Given the description of an element on the screen output the (x, y) to click on. 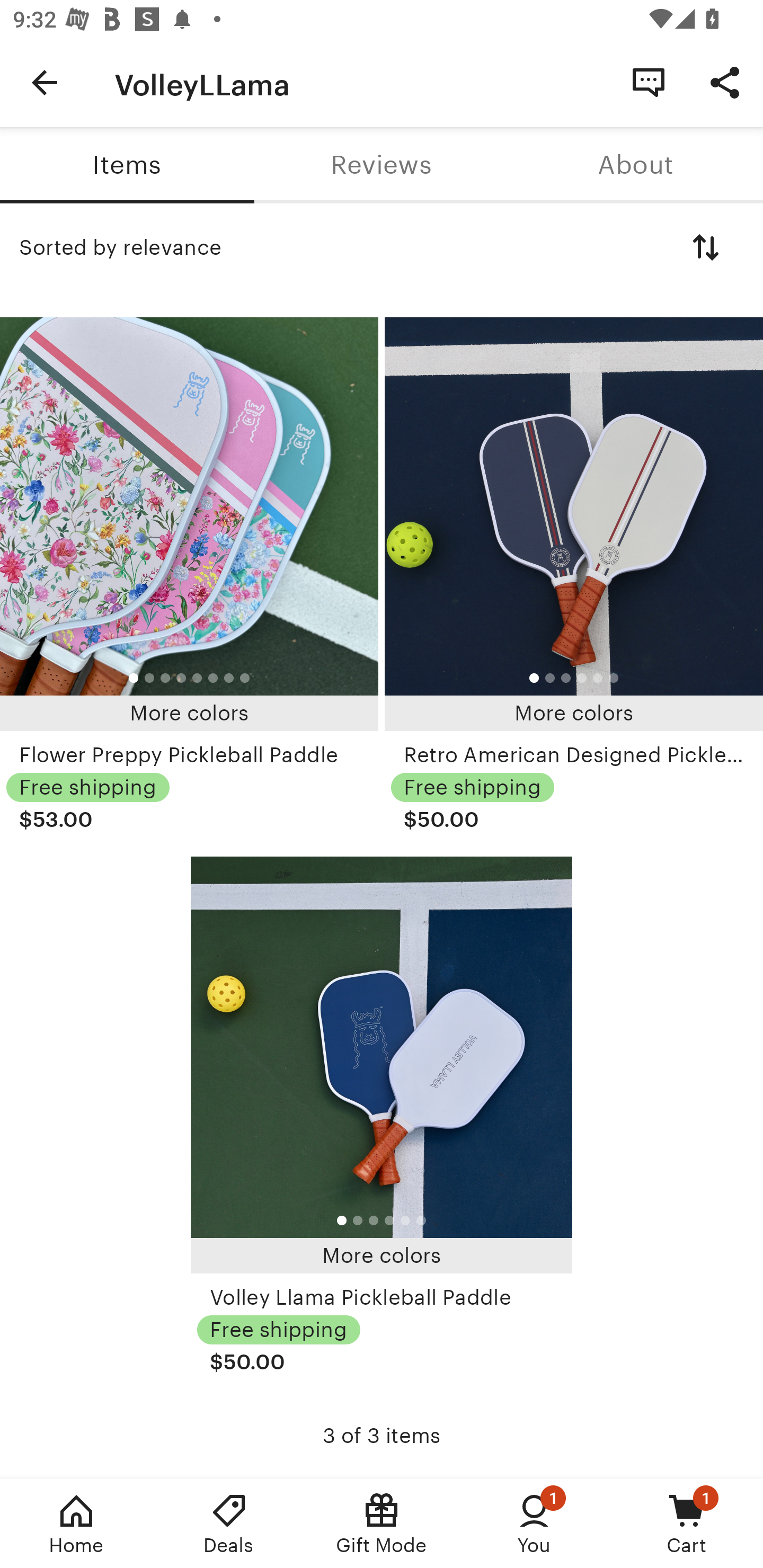
Navigate up (44, 82)
Contact Shop (648, 81)
Share (724, 81)
Reviews (381, 165)
About (635, 165)
Home (76, 1523)
Deals (228, 1523)
Gift Mode (381, 1523)
You, 1 new notification You (533, 1523)
